Given the description of an element on the screen output the (x, y) to click on. 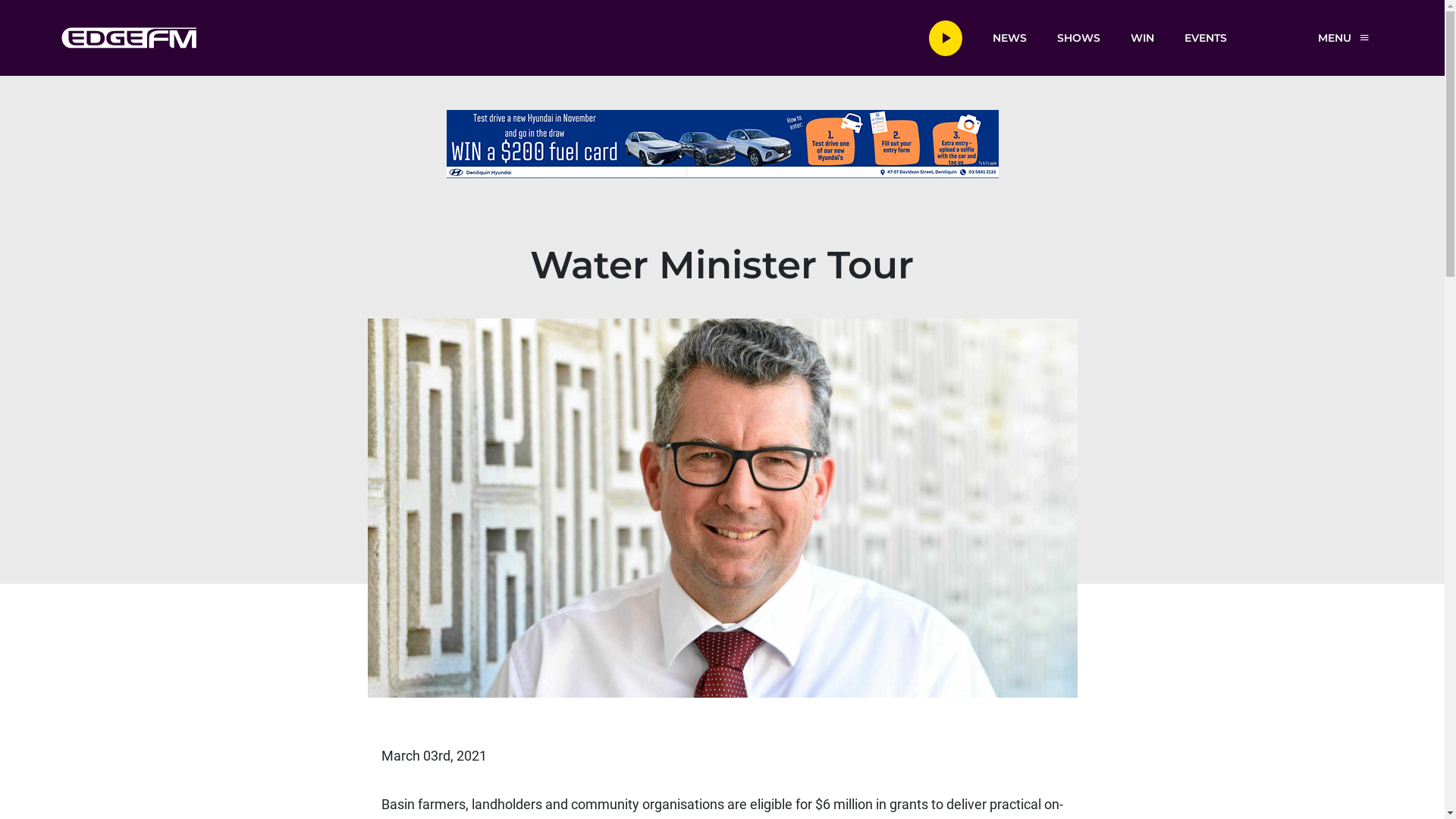
WIN Element type: text (1141, 36)
EVENTS Element type: text (1205, 36)
NEWS Element type: text (1008, 36)
SHOWS Element type: text (1078, 36)
